Given the description of an element on the screen output the (x, y) to click on. 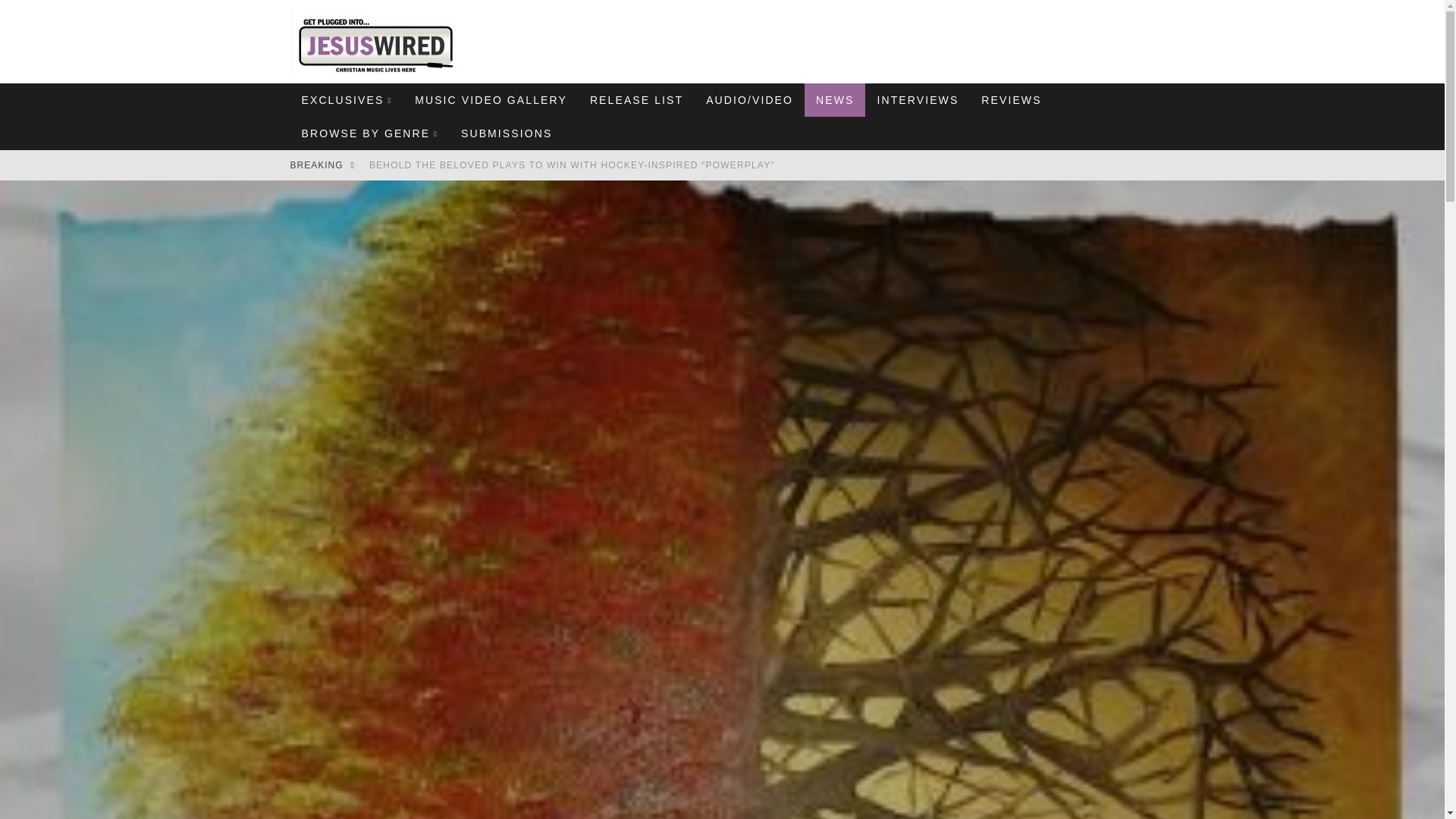
MUSIC VIDEO GALLERY (490, 100)
EXCLUSIVES (346, 100)
RELEASE LIST (636, 100)
